Given the description of an element on the screen output the (x, y) to click on. 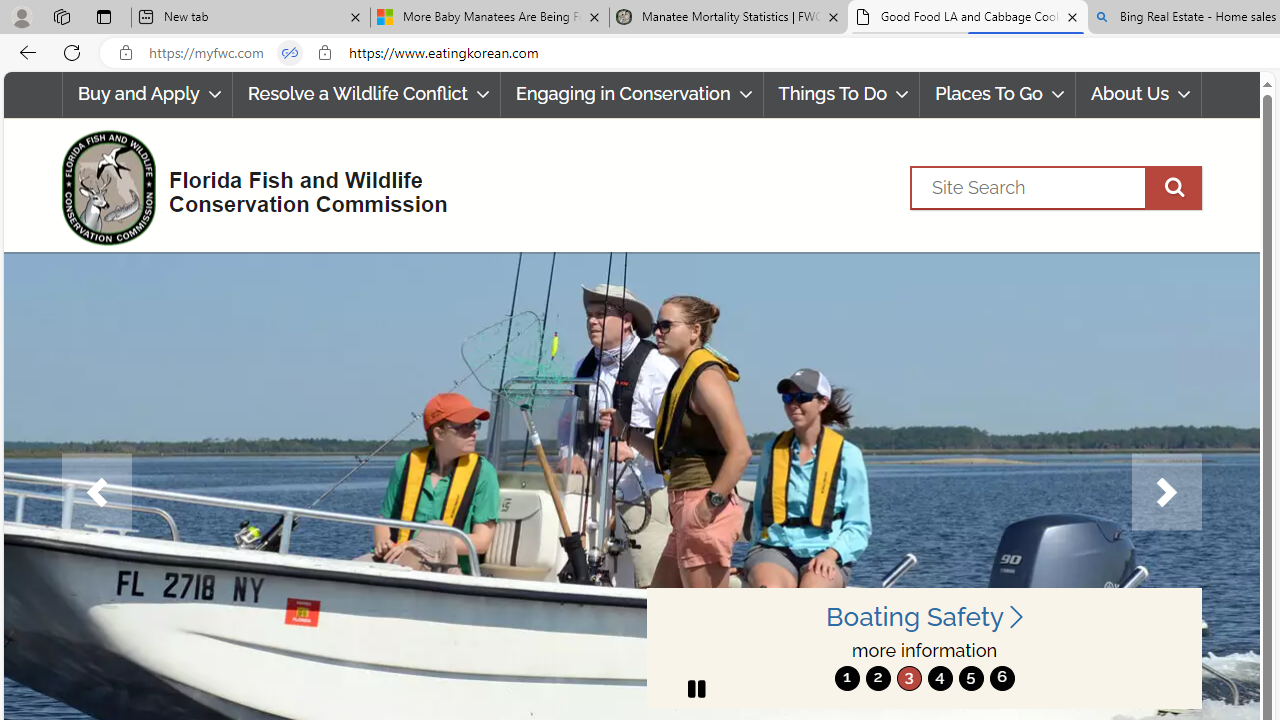
Resolve a Wildlife Conflict (365, 94)
slider pause button (696, 688)
Tabs in split screen (289, 53)
Things To Do (841, 94)
Previous (96, 491)
Buy and Apply (146, 94)
Resolve a Wildlife Conflict (365, 94)
move to slide 3 (908, 678)
3 (908, 678)
move to slide 5 (970, 678)
5 (970, 678)
